Given the description of an element on the screen output the (x, y) to click on. 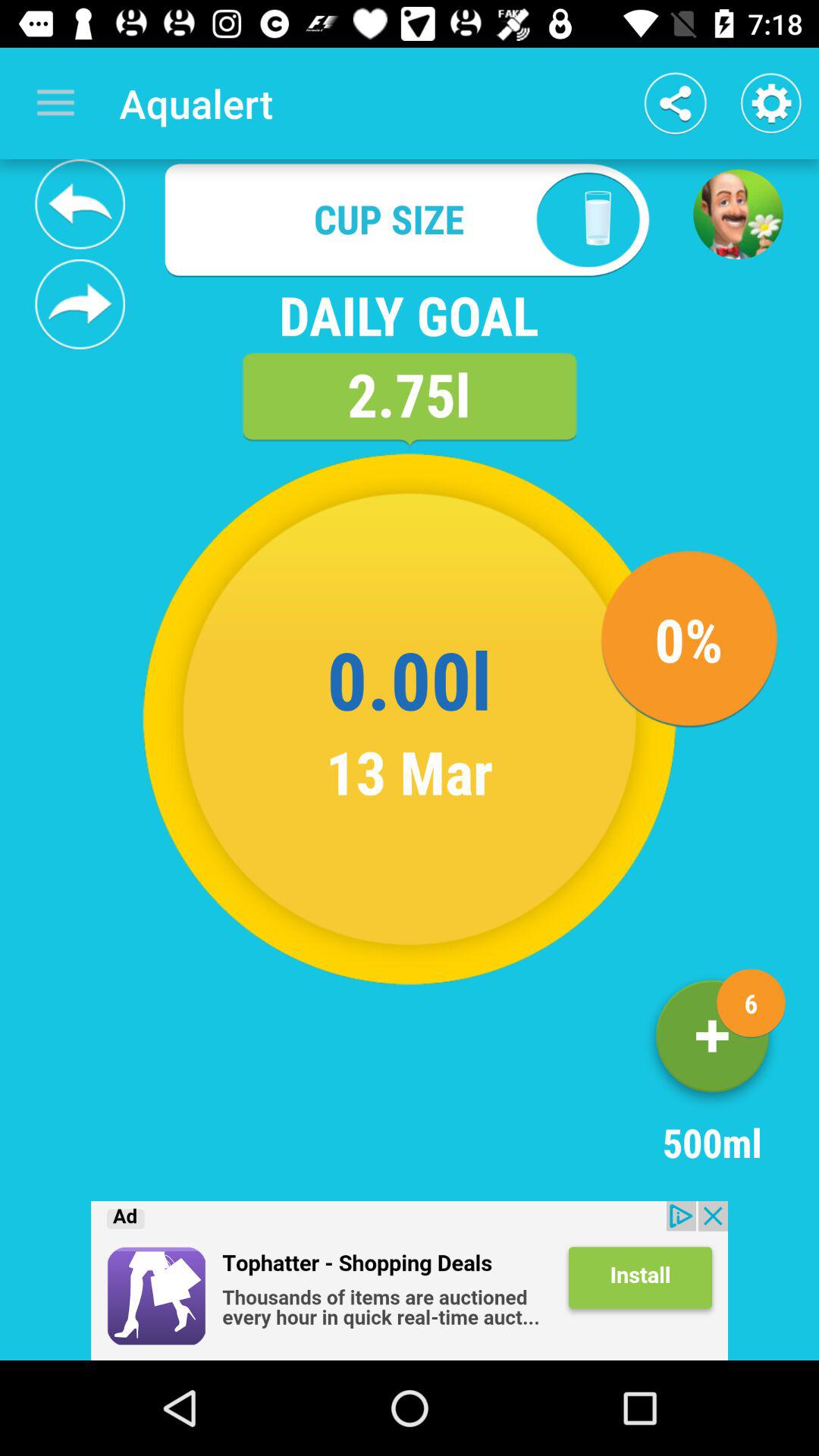
click an advertisement (409, 1280)
